Given the description of an element on the screen output the (x, y) to click on. 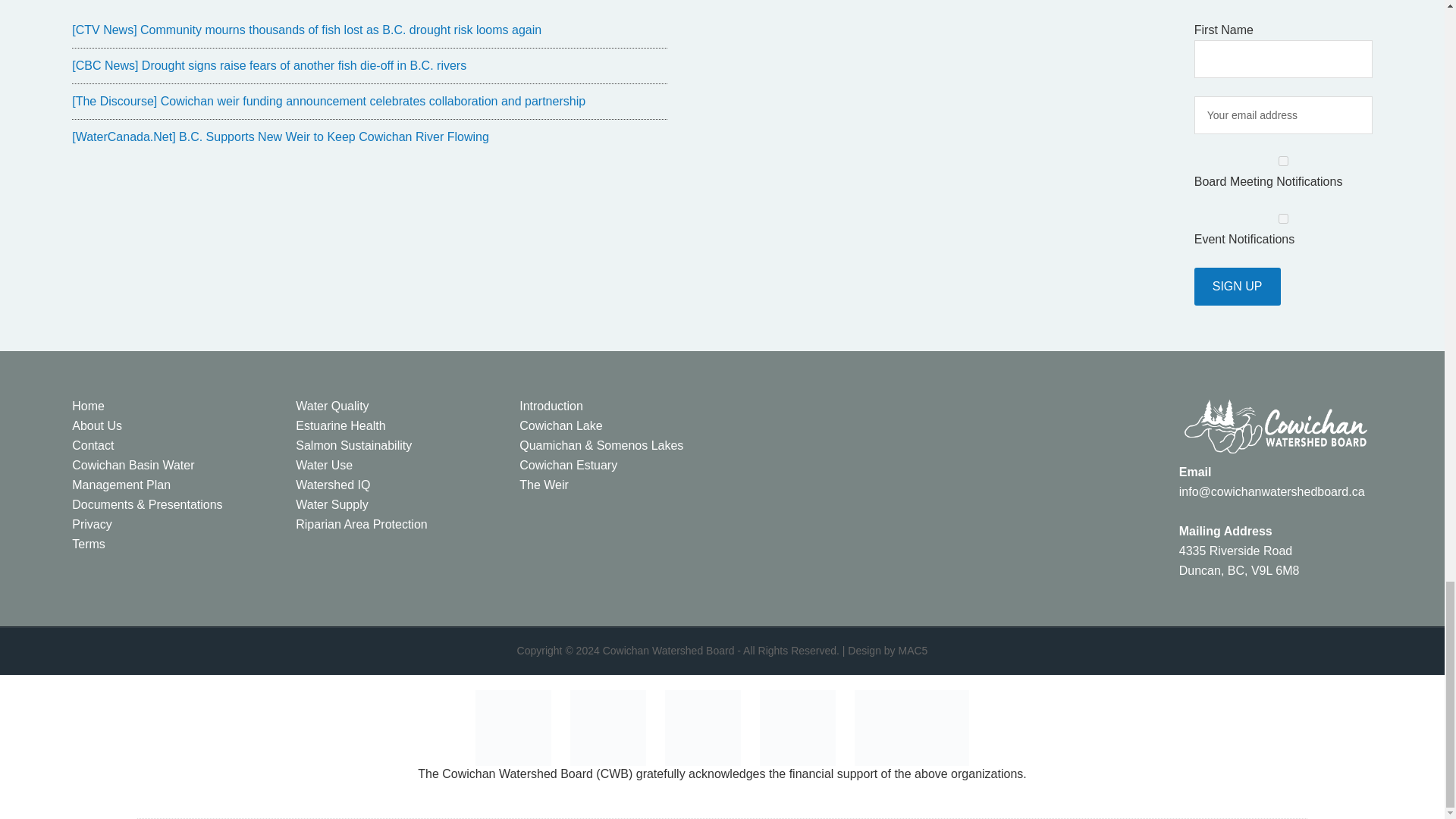
Board Meeting Notifications (1283, 161)
Event Notifications (1283, 218)
Sign up (1237, 286)
Cowichan Watershed Board (668, 650)
